Given the description of an element on the screen output the (x, y) to click on. 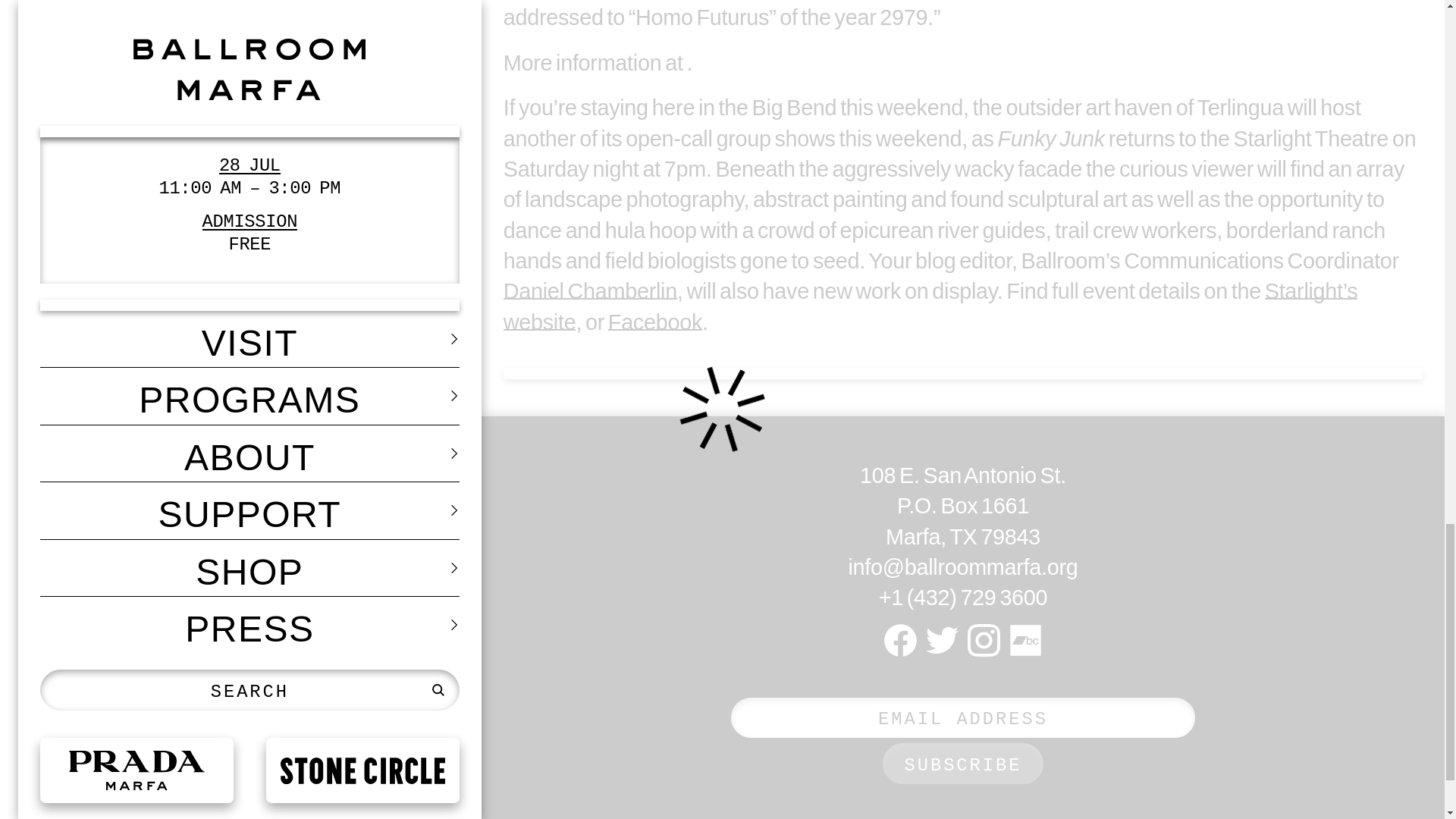
Subscribe (962, 762)
